Given the description of an element on the screen output the (x, y) to click on. 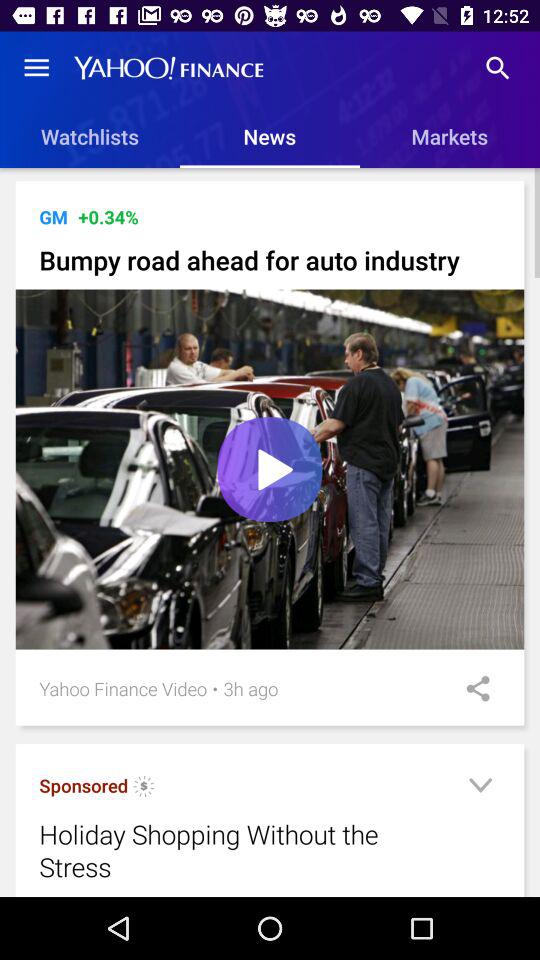
turn off the item above watchlists icon (36, 68)
